Given the description of an element on the screen output the (x, y) to click on. 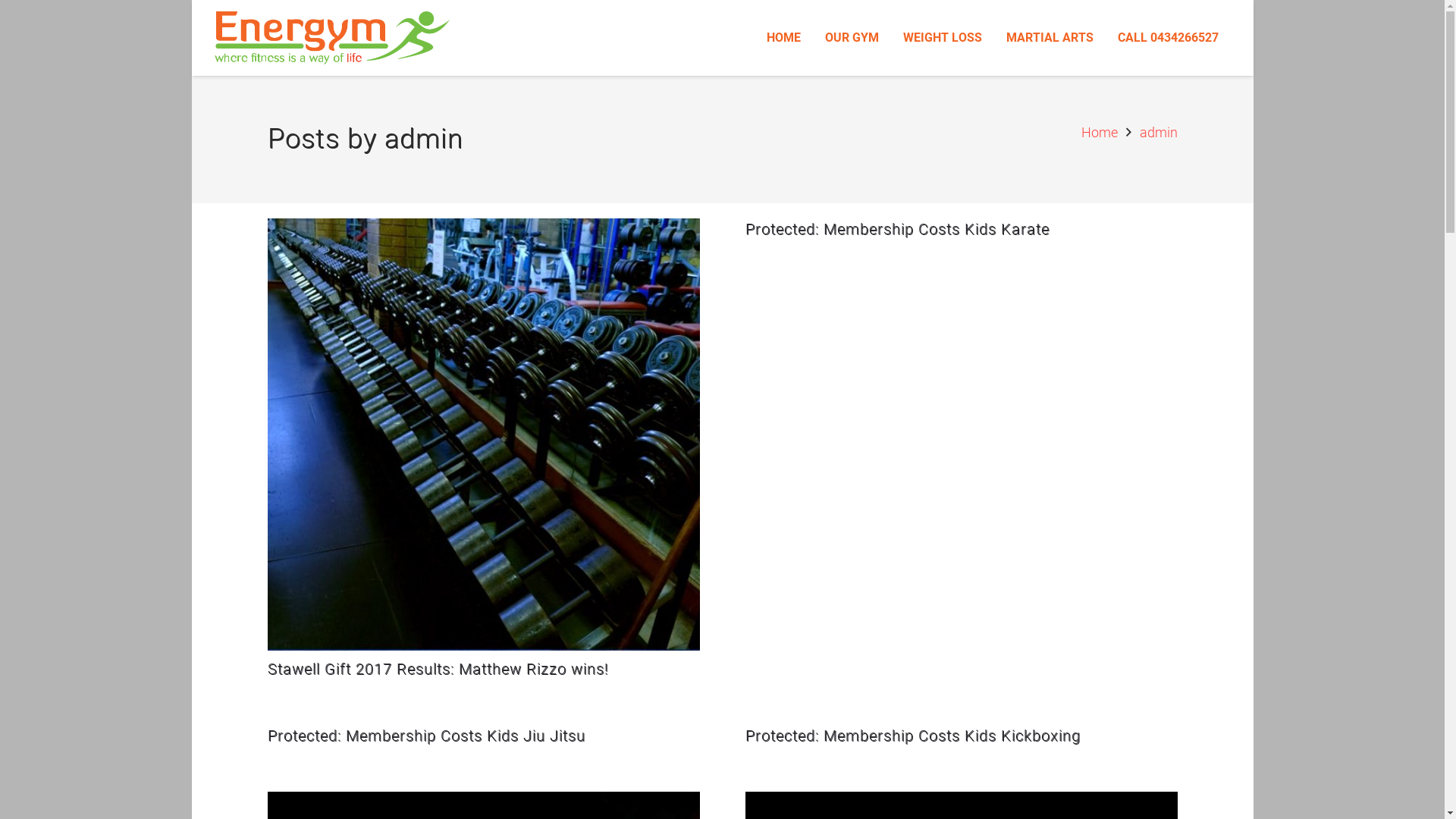
Protected: Membership Costs Kids Kickboxing Element type: text (911, 735)
admin Element type: text (1157, 132)
WEIGHT LOSS Element type: text (942, 37)
Protected: Membership Costs Kids Karate Element type: text (896, 228)
MARTIAL ARTS Element type: text (1049, 37)
HOME Element type: text (783, 37)
CALL 0434266527 Element type: text (1167, 37)
Stawell Gift 2017 Results: Matthew Rizzo wins! Element type: text (437, 668)
OUR GYM Element type: text (851, 37)
Protected: Membership Costs Kids Jiu Jitsu Element type: text (425, 735)
Home Element type: text (1099, 132)
